Given the description of an element on the screen output the (x, y) to click on. 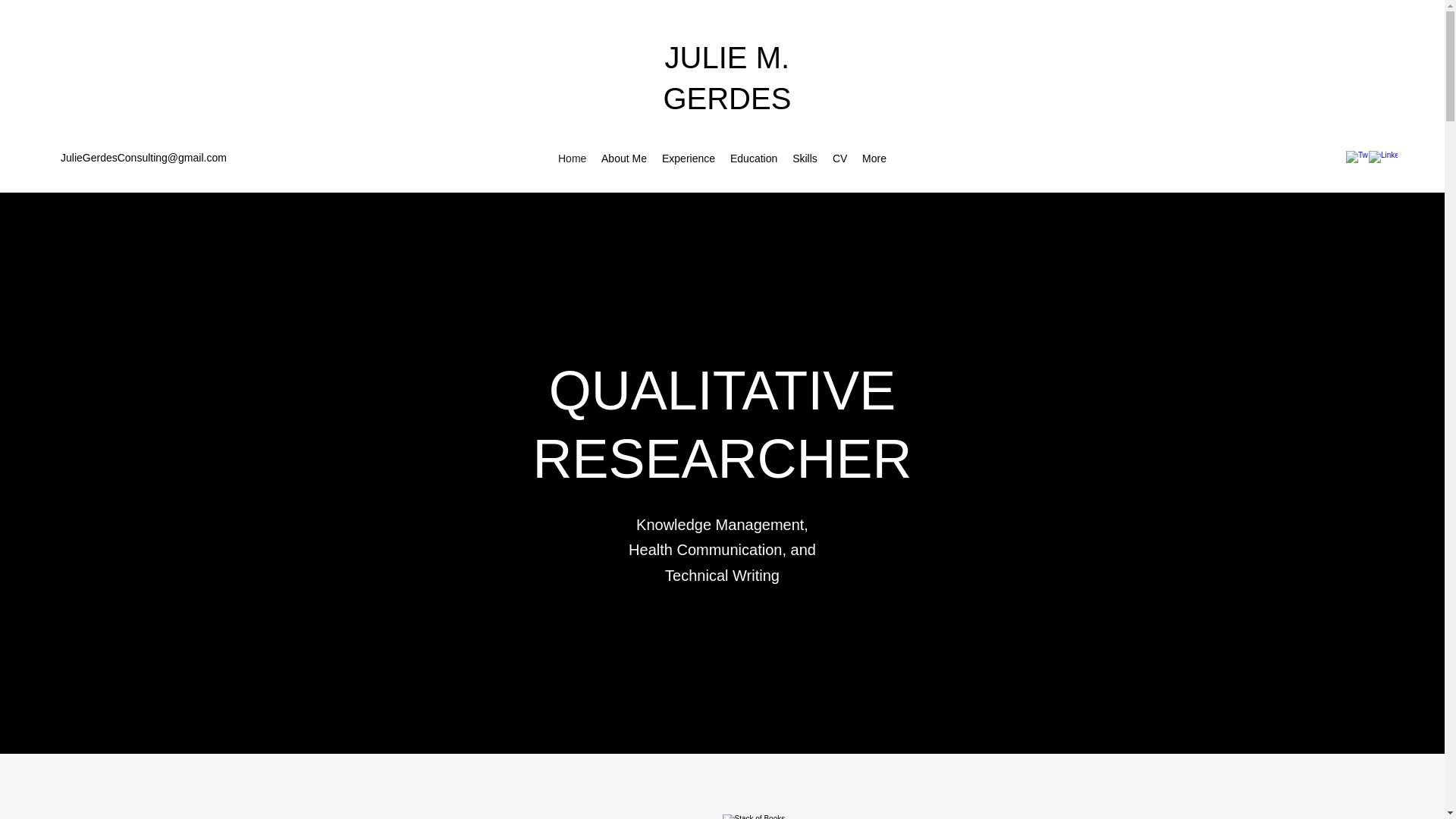
Skills (804, 158)
Education (753, 158)
Experience (687, 158)
About Me (623, 158)
Home (572, 158)
CV (839, 158)
JULIE M. GERDES (726, 77)
